Given the description of an element on the screen output the (x, y) to click on. 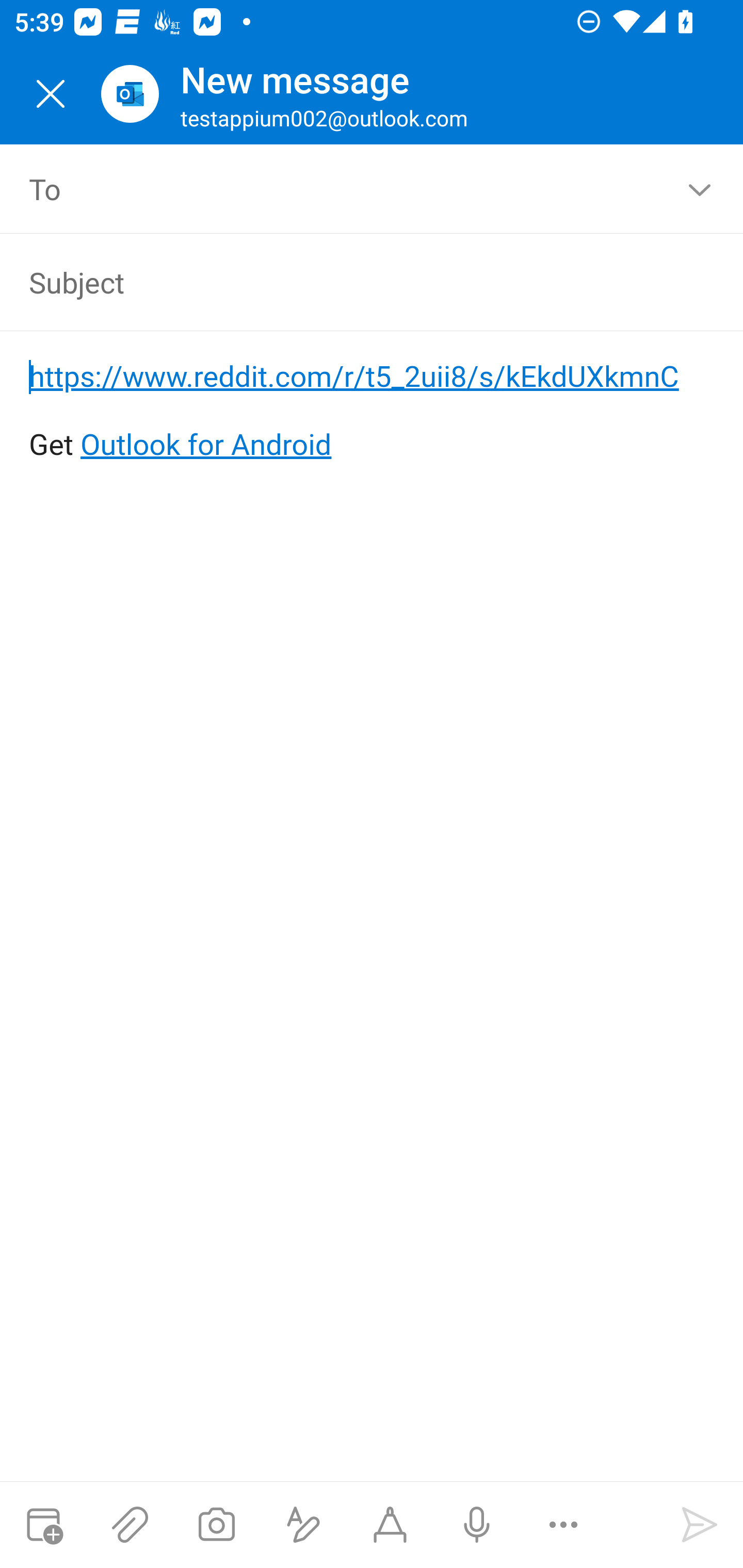
Close (50, 93)
Subject (342, 281)
Attach meeting (43, 1524)
Attach files (129, 1524)
Take a photo (216, 1524)
Show formatting options (303, 1524)
Start Ink compose (389, 1524)
Dictation (476, 1524)
More options (563, 1524)
Send (699, 1524)
